Given the description of an element on the screen output the (x, y) to click on. 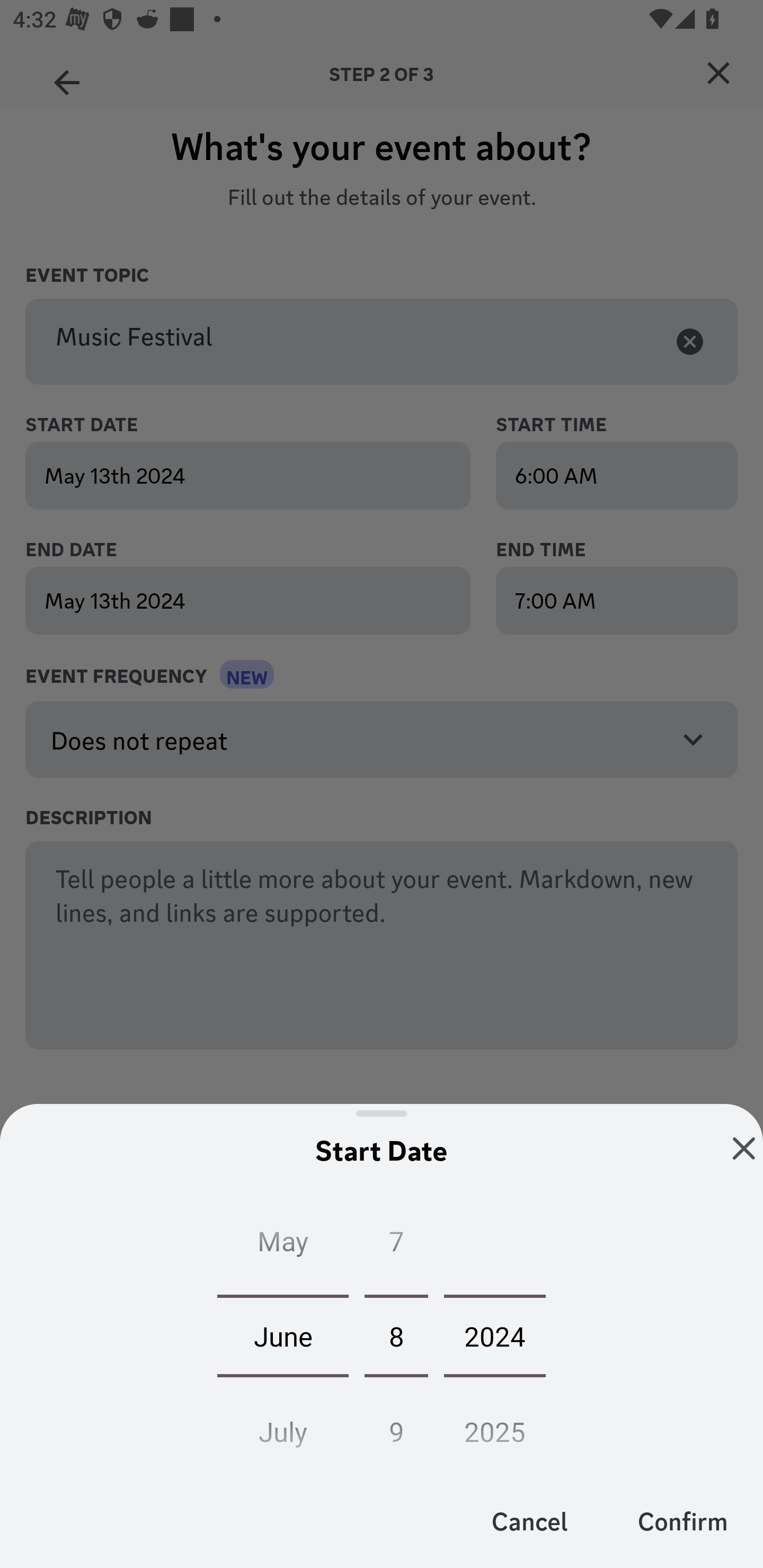
Close (743, 1148)
May (282, 1245)
7 (396, 1245)
June (282, 1335)
8 (396, 1335)
2024 (494, 1335)
July (282, 1425)
9 (396, 1425)
2025 (494, 1425)
Cancel (529, 1520)
Confirm (682, 1520)
